Given the description of an element on the screen output the (x, y) to click on. 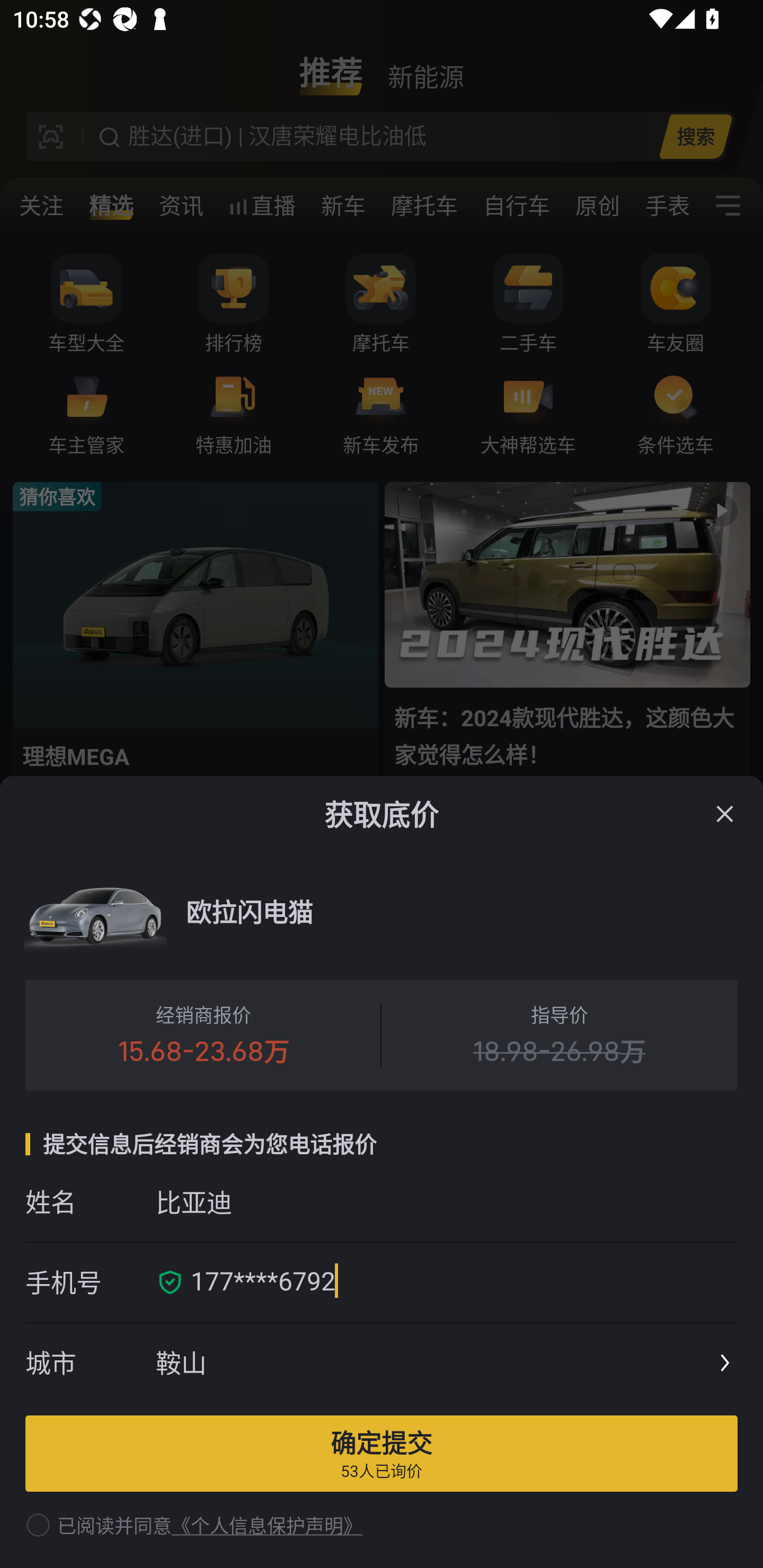
 (724, 813)
姓名 (90, 1201)
比亚迪 (446, 1201)
手机号 (90, 1282)
177****6792 (457, 1282)
城市 鞍山  (381, 1363)
确定提交 53人已询价 (381, 1453)
